Given the description of an element on the screen output the (x, y) to click on. 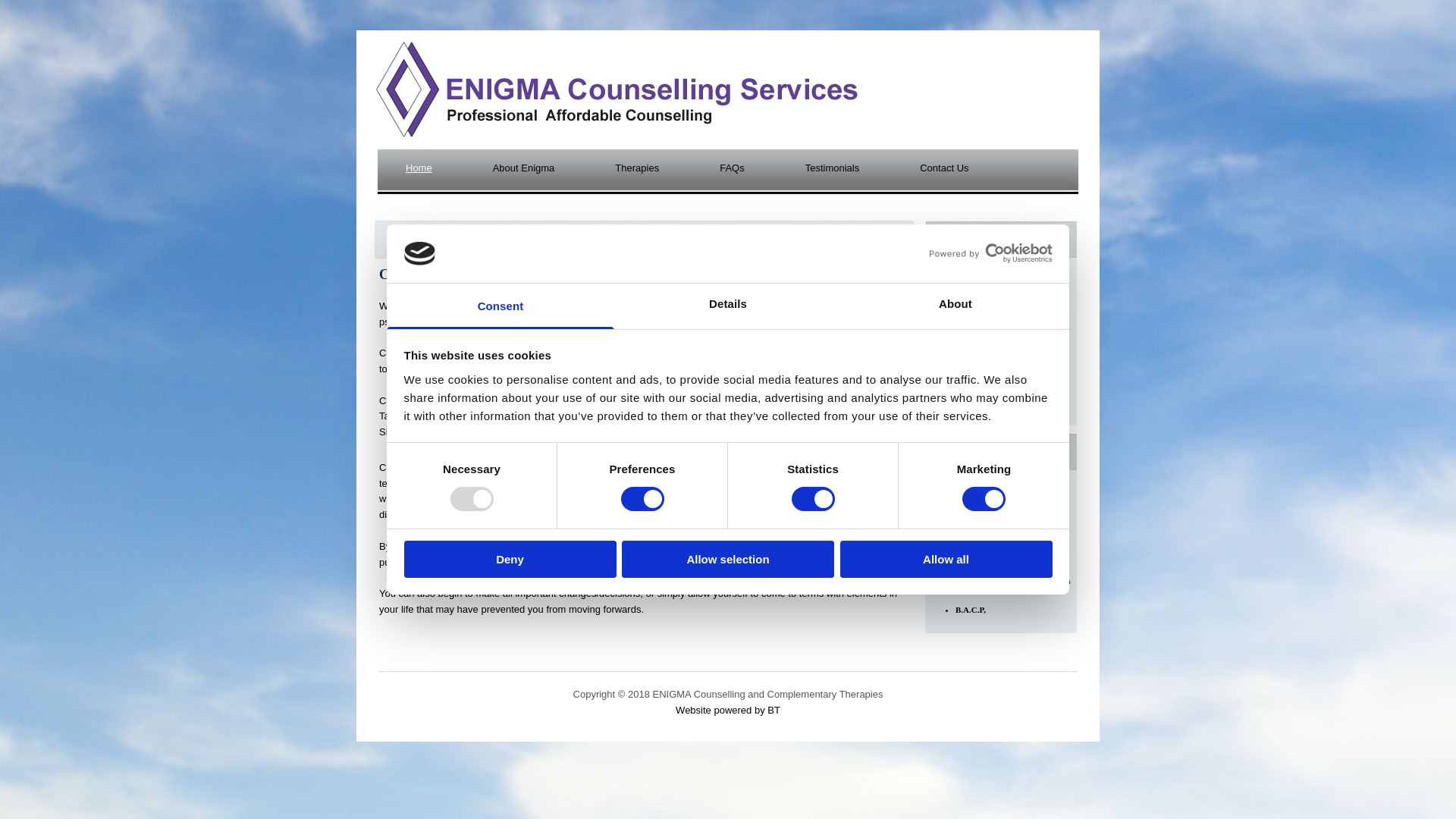
Therapies (629, 173)
Allow all (946, 559)
Counselling Society (990, 500)
Details (727, 306)
Allow selection (727, 559)
Testimonials (825, 173)
About Enigma (515, 173)
Deny (509, 559)
07921 313966 (971, 399)
FAQs (724, 173)
About (954, 306)
Counselling Directory (994, 522)
Contact Us (936, 173)
01732 842963 (971, 368)
Consent (500, 306)
